Given the description of an element on the screen output the (x, y) to click on. 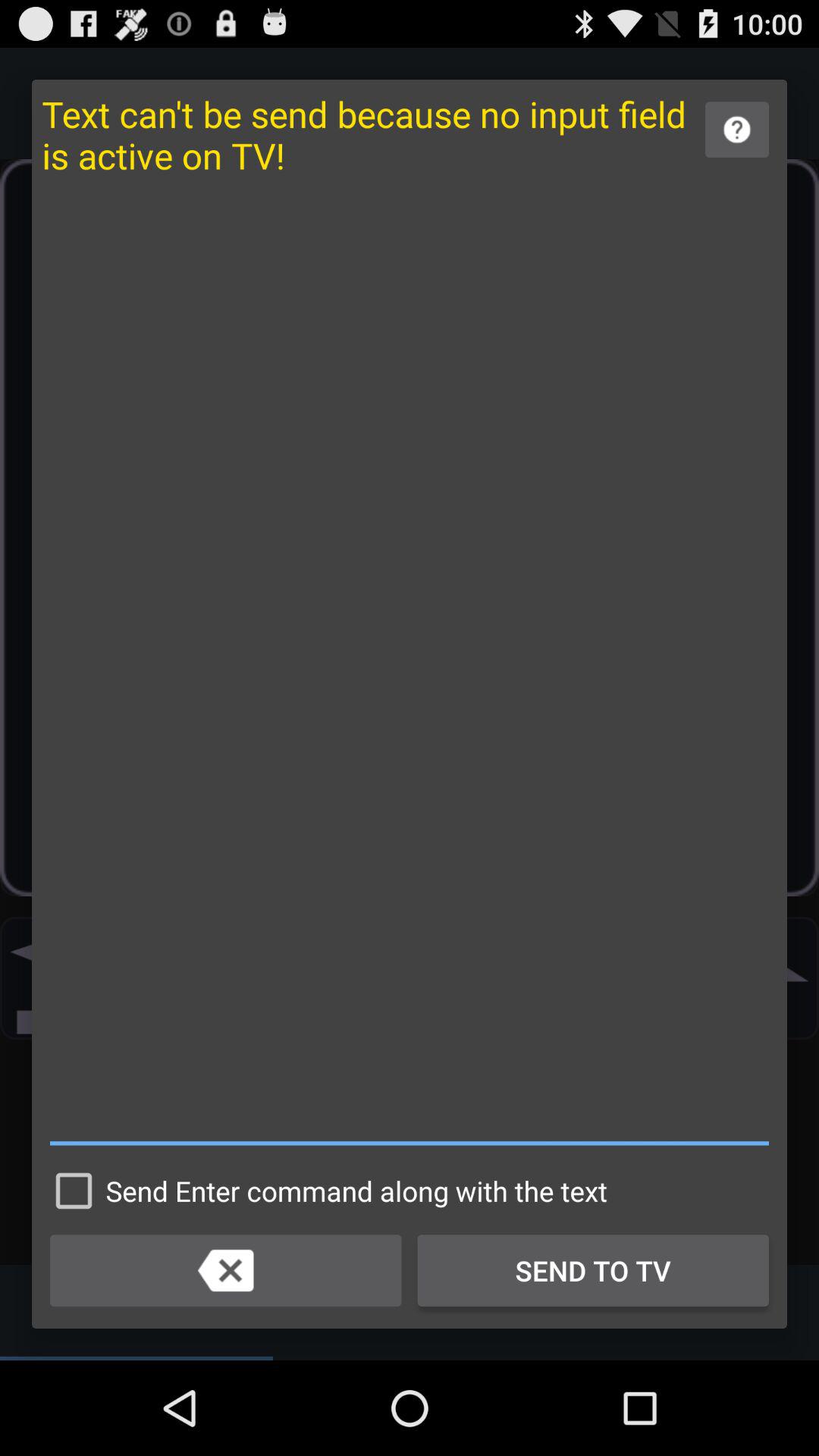
access help (736, 129)
